Given the description of an element on the screen output the (x, y) to click on. 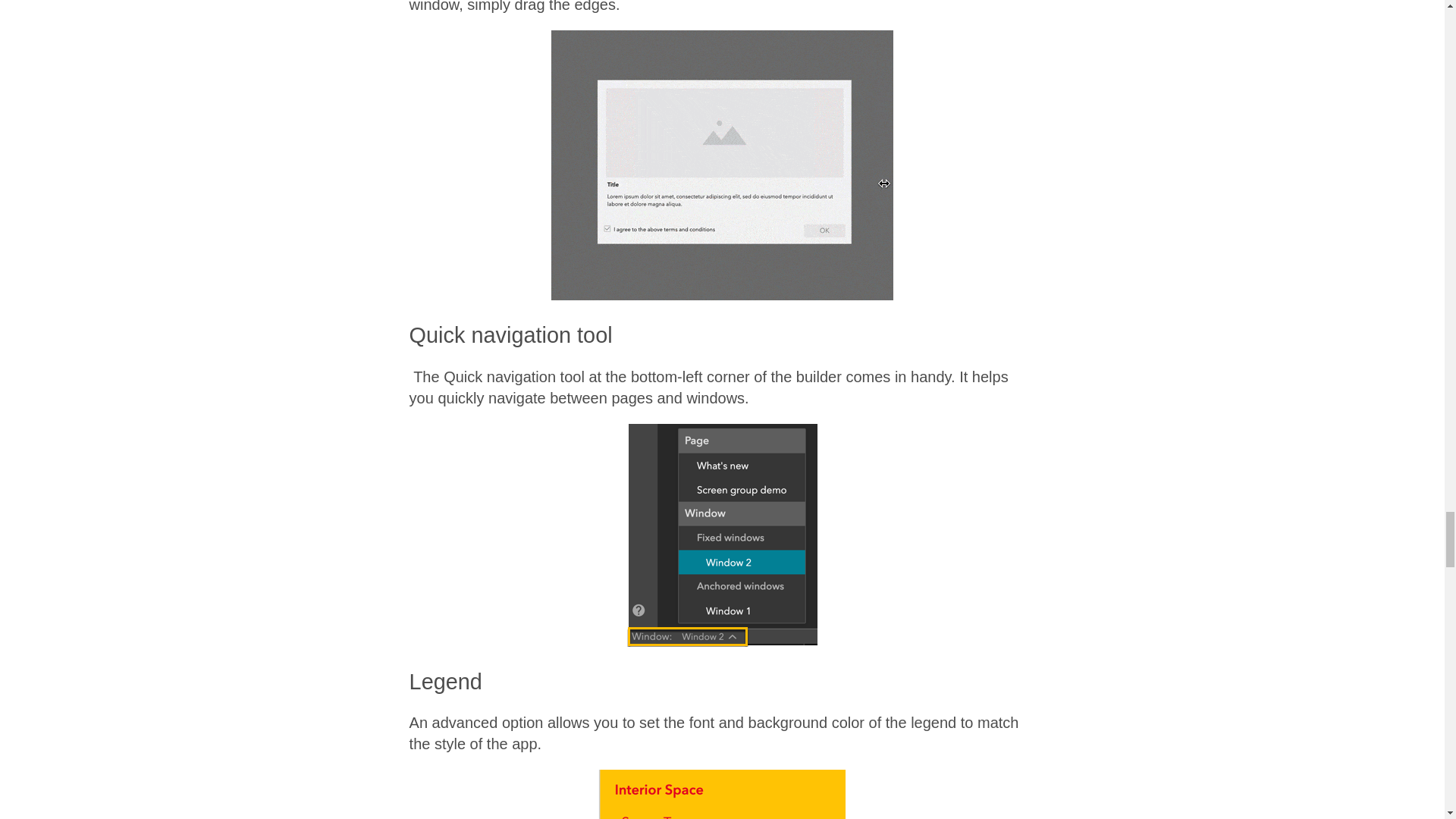
Resize window with drag and drop (722, 165)
